Given the description of an element on the screen output the (x, y) to click on. 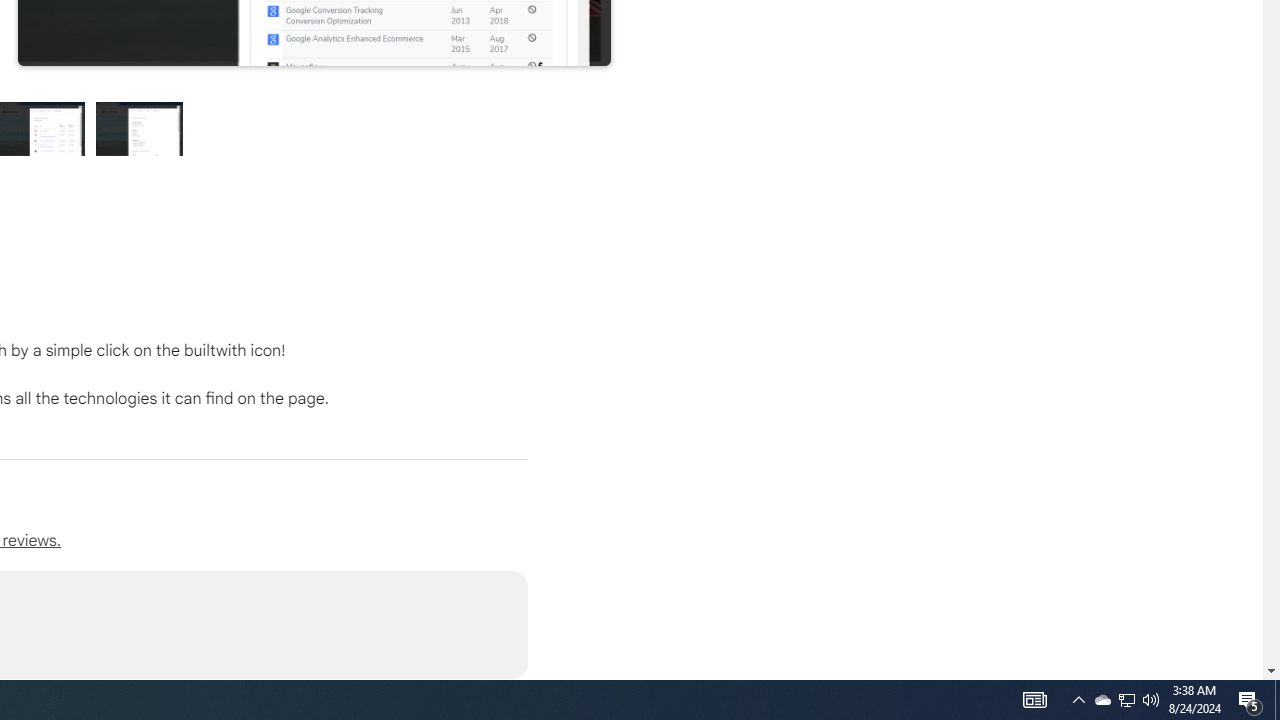
Preview slide 4 (140, 128)
